Given the description of an element on the screen output the (x, y) to click on. 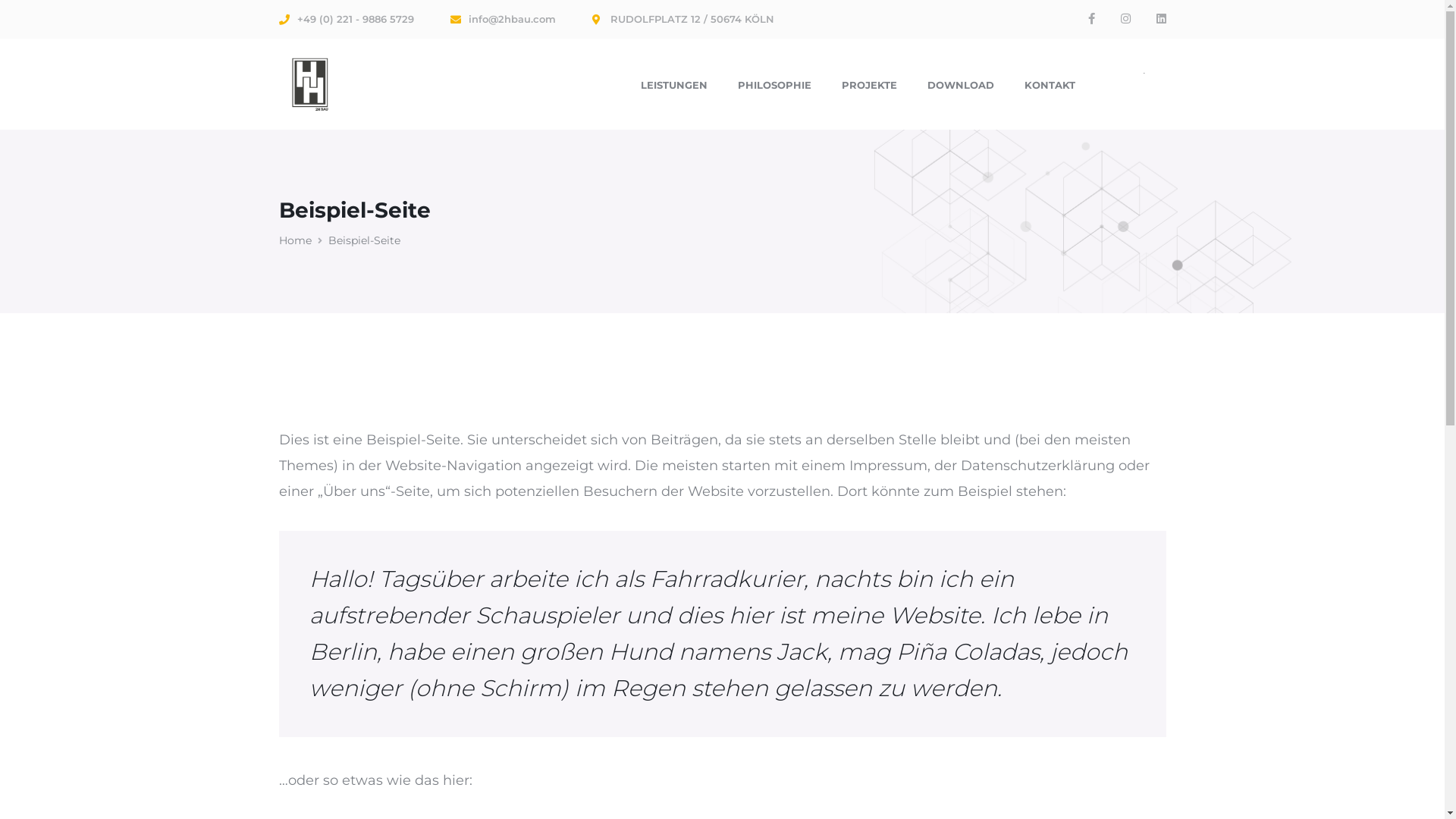
Instagram Profile Element type: text (1125, 18)
LinkedIn Profile Element type: text (1160, 18)
2HBau Element type: hover (309, 82)
LEISTUNGEN Element type: text (673, 83)
PHILOSOPHIE Element type: text (773, 83)
DOWNLOAD Element type: text (959, 83)
PROJEKTE Element type: text (869, 83)
Facebook Profile Element type: text (1090, 18)
KONTAKT Element type: text (1048, 83)
Home Element type: text (303, 240)
